Given the description of an element on the screen output the (x, y) to click on. 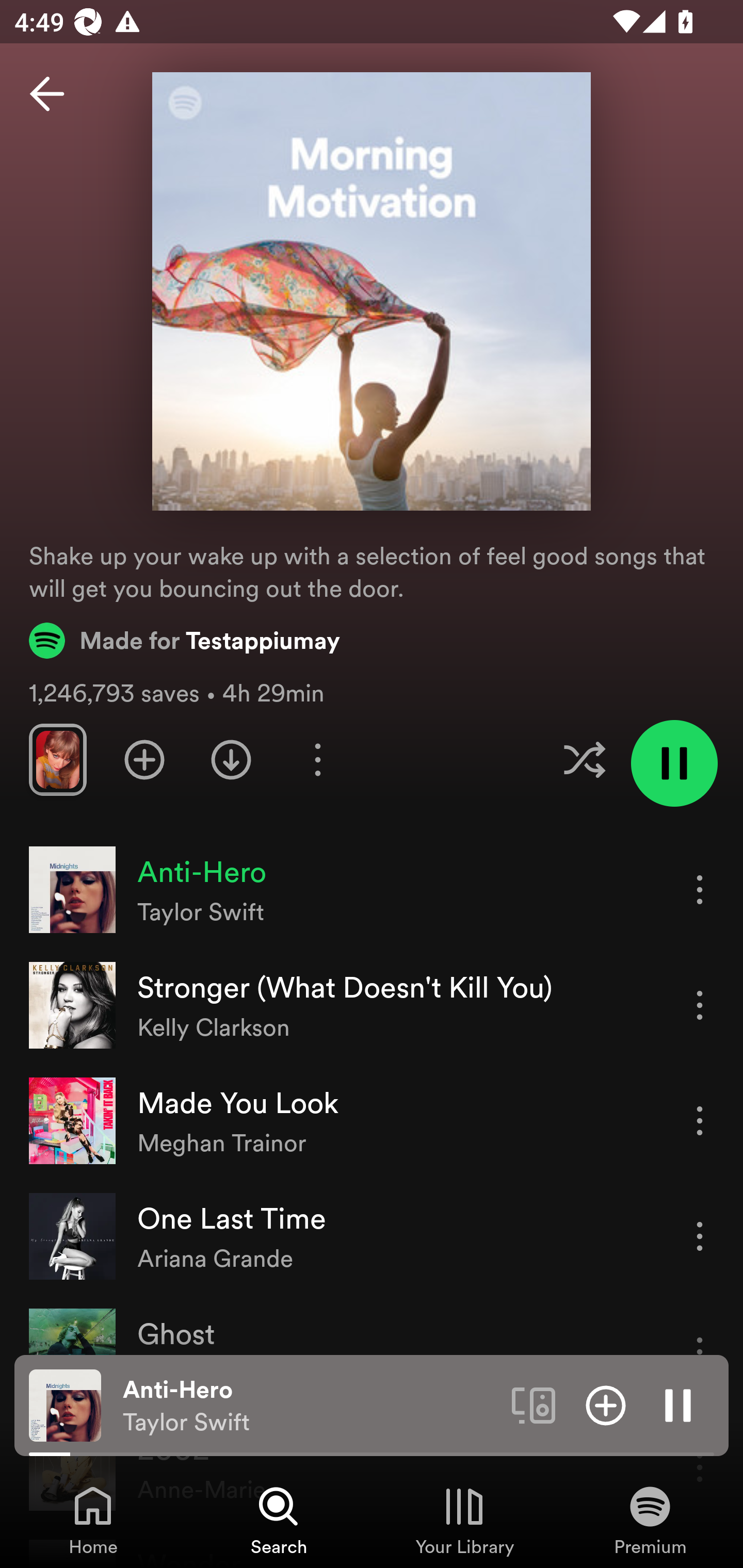
Back (46, 93)
Made for Testappiumay (184, 640)
Swipe through previews of tracks in this playlist. (57, 759)
Add playlist to Your Library (144, 759)
Download (230, 759)
More options for playlist Morning Motivation (317, 759)
Enable shuffle for this playlist (583, 759)
Pause playlist (674, 763)
More options for song Anti-Hero (699, 889)
More options for song Made You Look (699, 1120)
More options for song One Last Time (699, 1236)
Ghost Justin Bieber More options for song Ghost (371, 1351)
Anti-Hero Taylor Swift (309, 1405)
The cover art of the currently playing track (64, 1404)
Connect to a device. Opens the devices menu (533, 1404)
Add item (605, 1404)
Pause (677, 1404)
Home, Tab 1 of 4 Home Home (92, 1519)
Search, Tab 2 of 4 Search Search (278, 1519)
Your Library, Tab 3 of 4 Your Library Your Library (464, 1519)
Premium, Tab 4 of 4 Premium Premium (650, 1519)
